Given the description of an element on the screen output the (x, y) to click on. 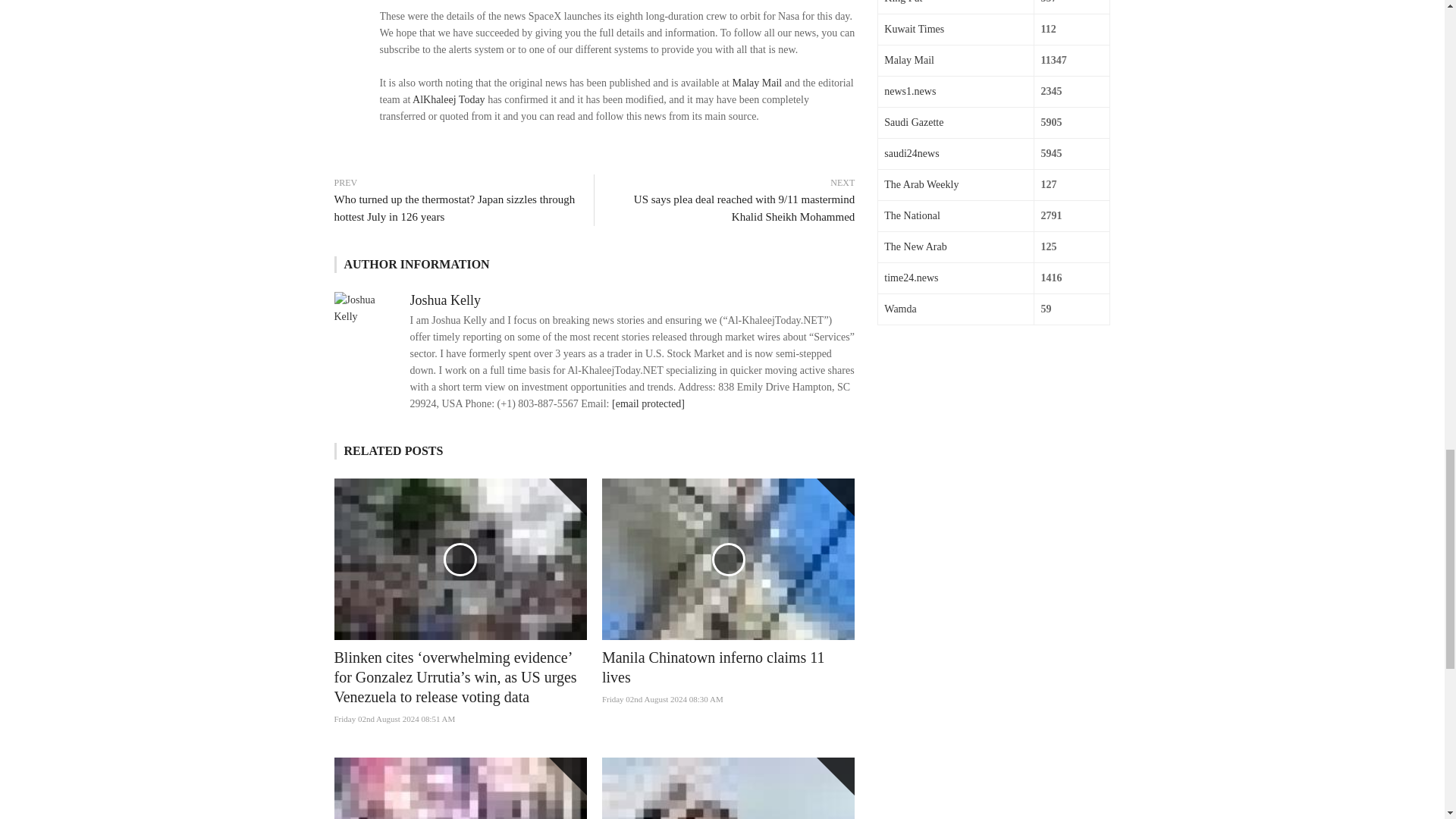
Malay Mail (757, 82)
Joshua Kelly (444, 299)
Manila Chinatown inferno claims 11 lives (713, 667)
AlKhaleej Today (448, 99)
